Given the description of an element on the screen output the (x, y) to click on. 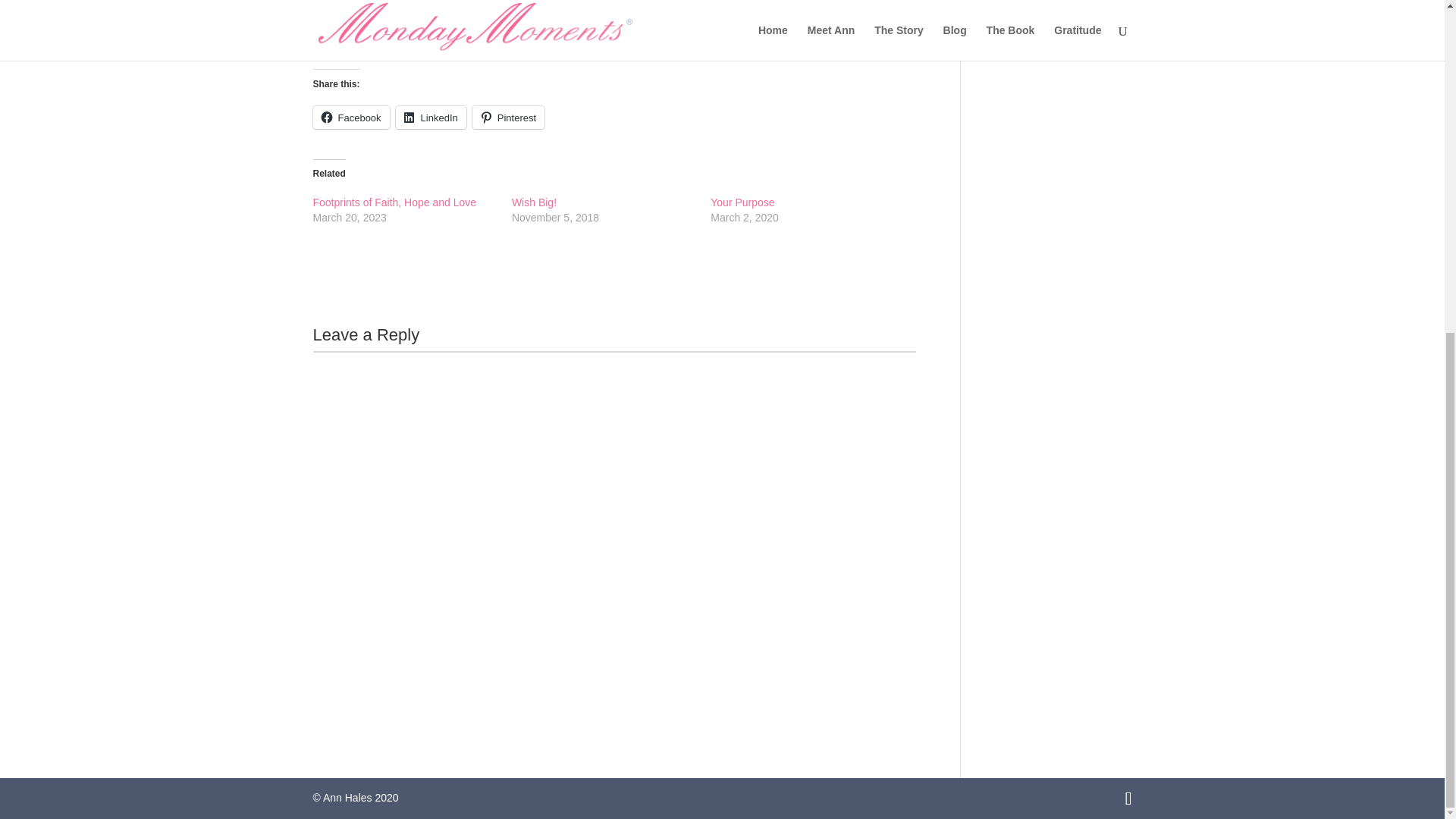
Footprints of Faith, Hope and Love (394, 202)
Pinterest (507, 117)
Click to share on Facebook (350, 117)
Click to share on Pinterest (507, 117)
Wish Big! (534, 202)
LinkedIn (430, 117)
Footprints of Faith, Hope and Love (394, 202)
Wish Big! (534, 202)
Your Purpose (742, 202)
Your Purpose (742, 202)
